Given the description of an element on the screen output the (x, y) to click on. 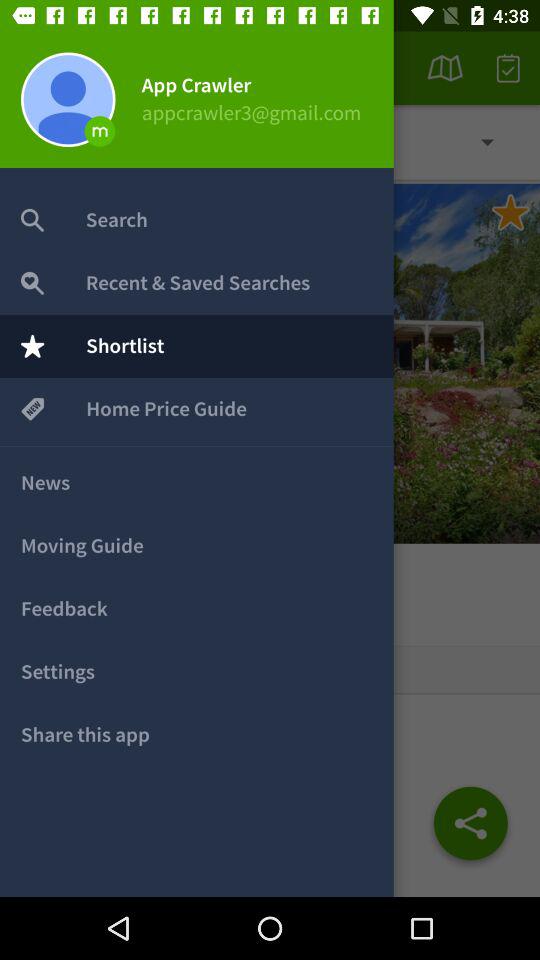
click on the second icon from the top right corner (445, 68)
